Given the description of an element on the screen output the (x, y) to click on. 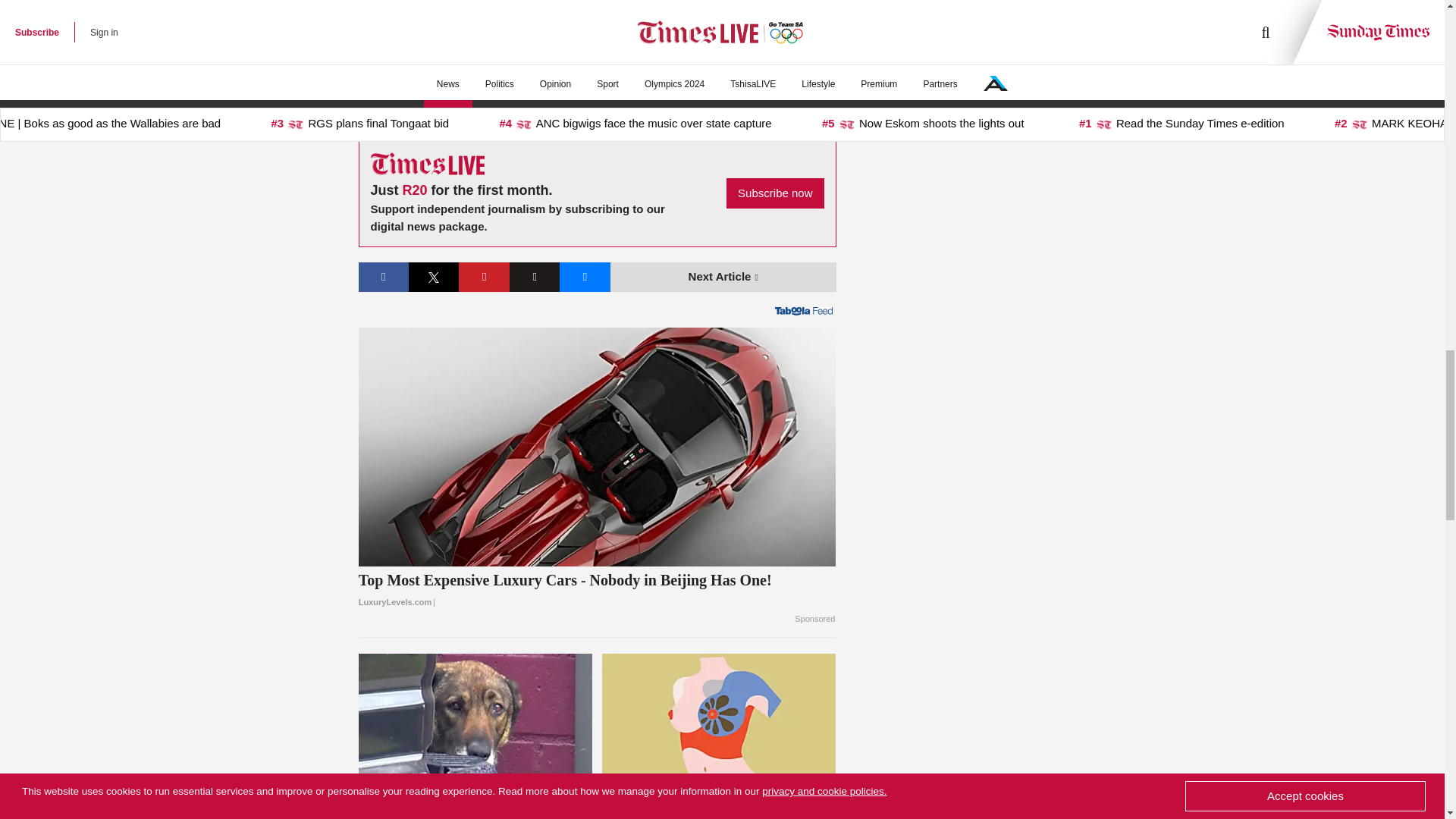
Top Most Expensive Luxury Cars - Nobody in Beijing Has One! (596, 591)
Top Most Expensive Luxury Cars - Nobody in Beijing Has One! (596, 446)
